Given the description of an element on the screen output the (x, y) to click on. 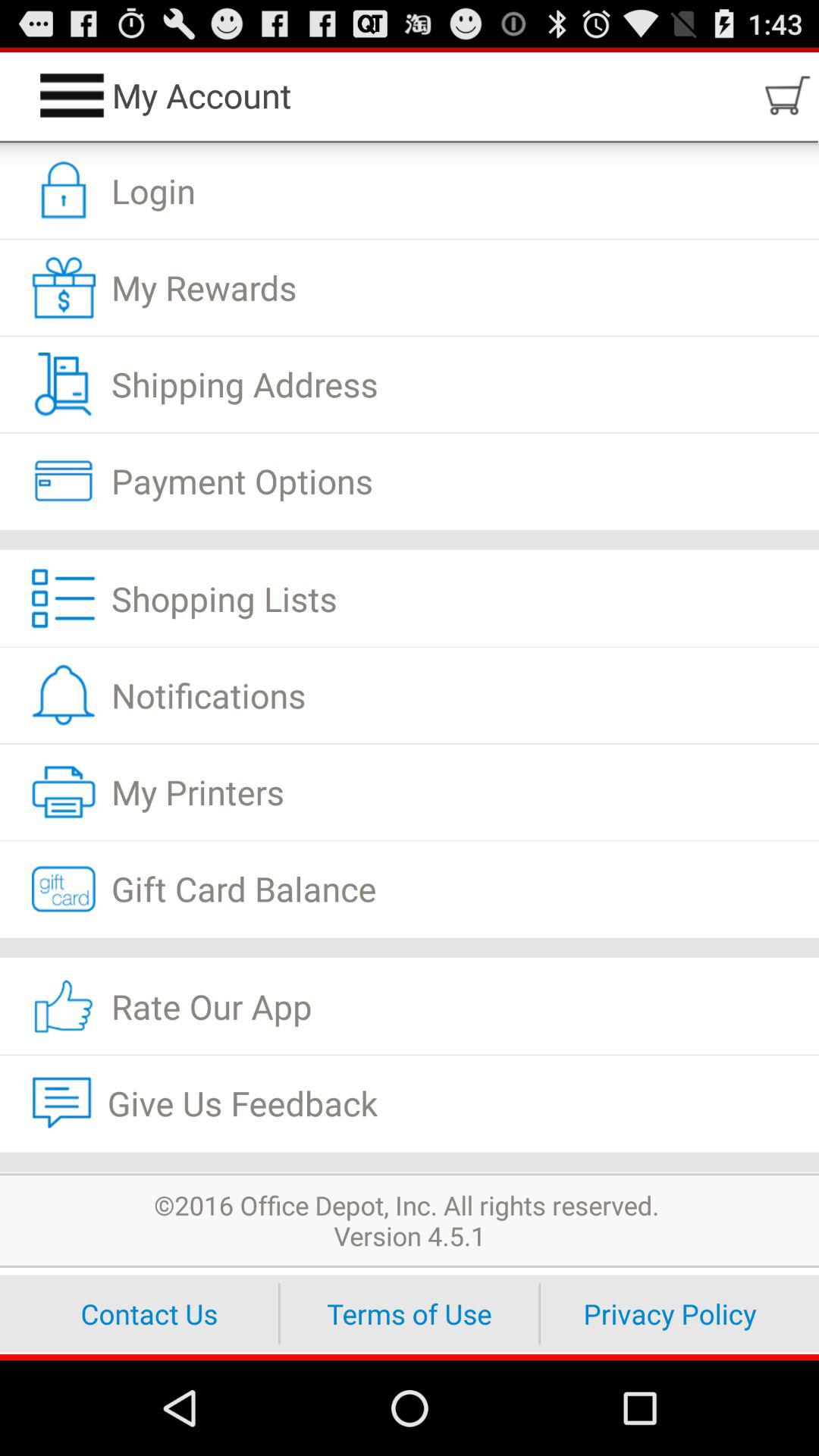
press icon below shipping address (409, 480)
